Given the description of an element on the screen output the (x, y) to click on. 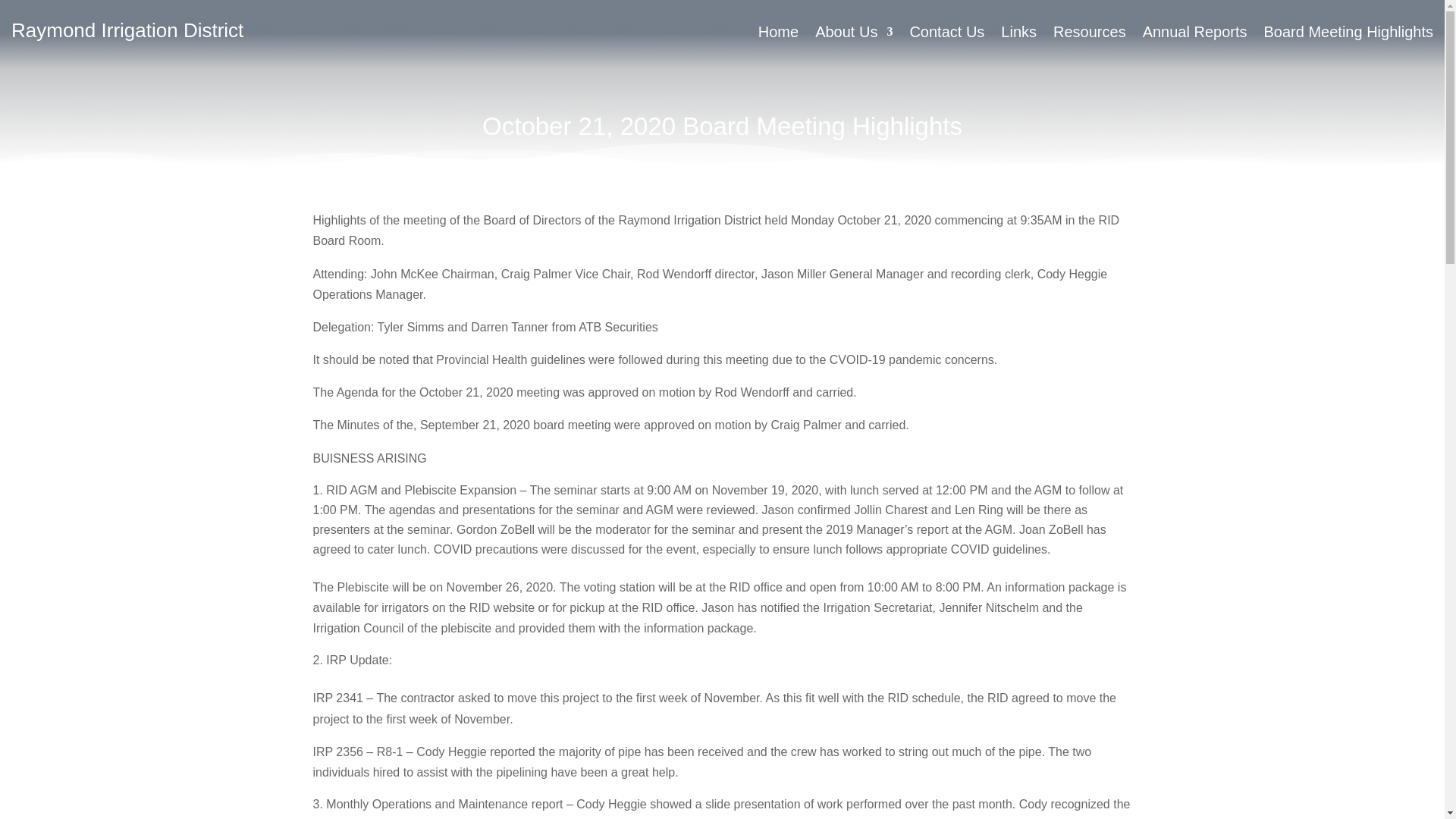
Home (777, 34)
Board Meeting Highlights (1347, 34)
Resources (1088, 34)
Contact Us (946, 34)
Annual Reports (1194, 34)
About Us (853, 34)
Links (1018, 34)
